Given the description of an element on the screen output the (x, y) to click on. 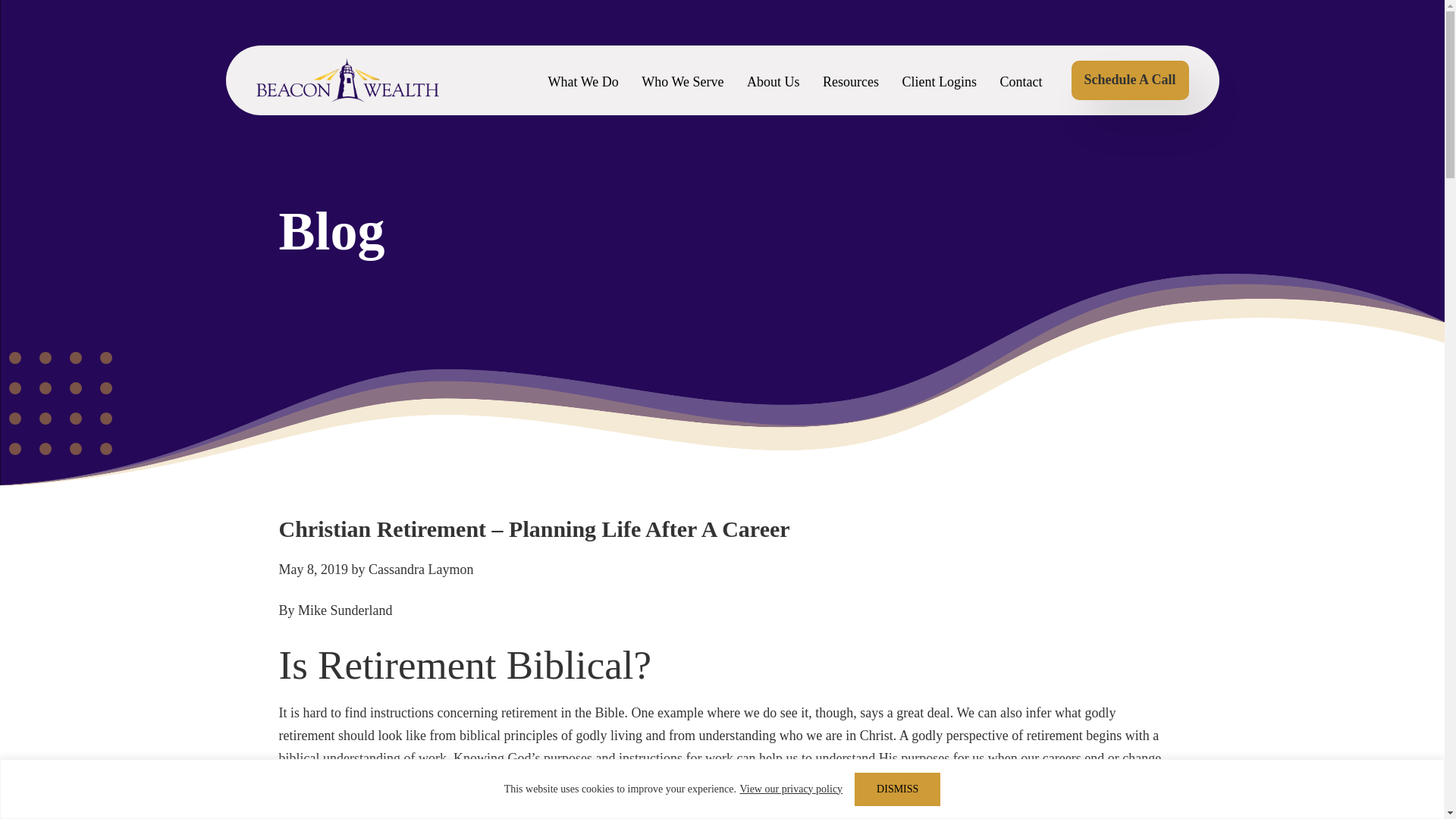
View our privacy policy (790, 788)
Who We Serve (682, 93)
Beacon Wealth (347, 80)
DISMISS (897, 788)
About Us (772, 93)
What We Do (583, 93)
